Given the description of an element on the screen output the (x, y) to click on. 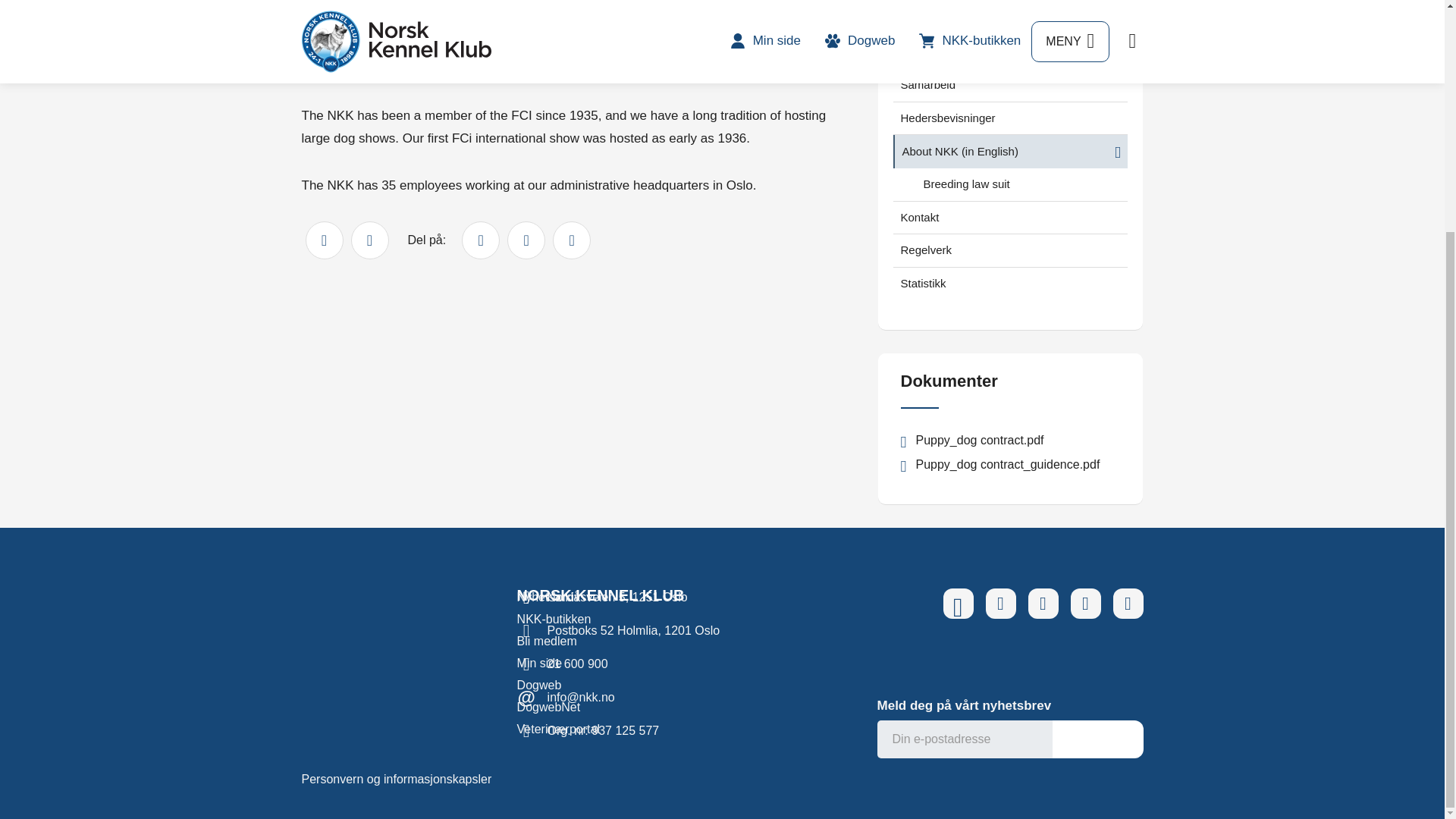
Tips en venn (369, 240)
Skriv ut (323, 240)
